Given the description of an element on the screen output the (x, y) to click on. 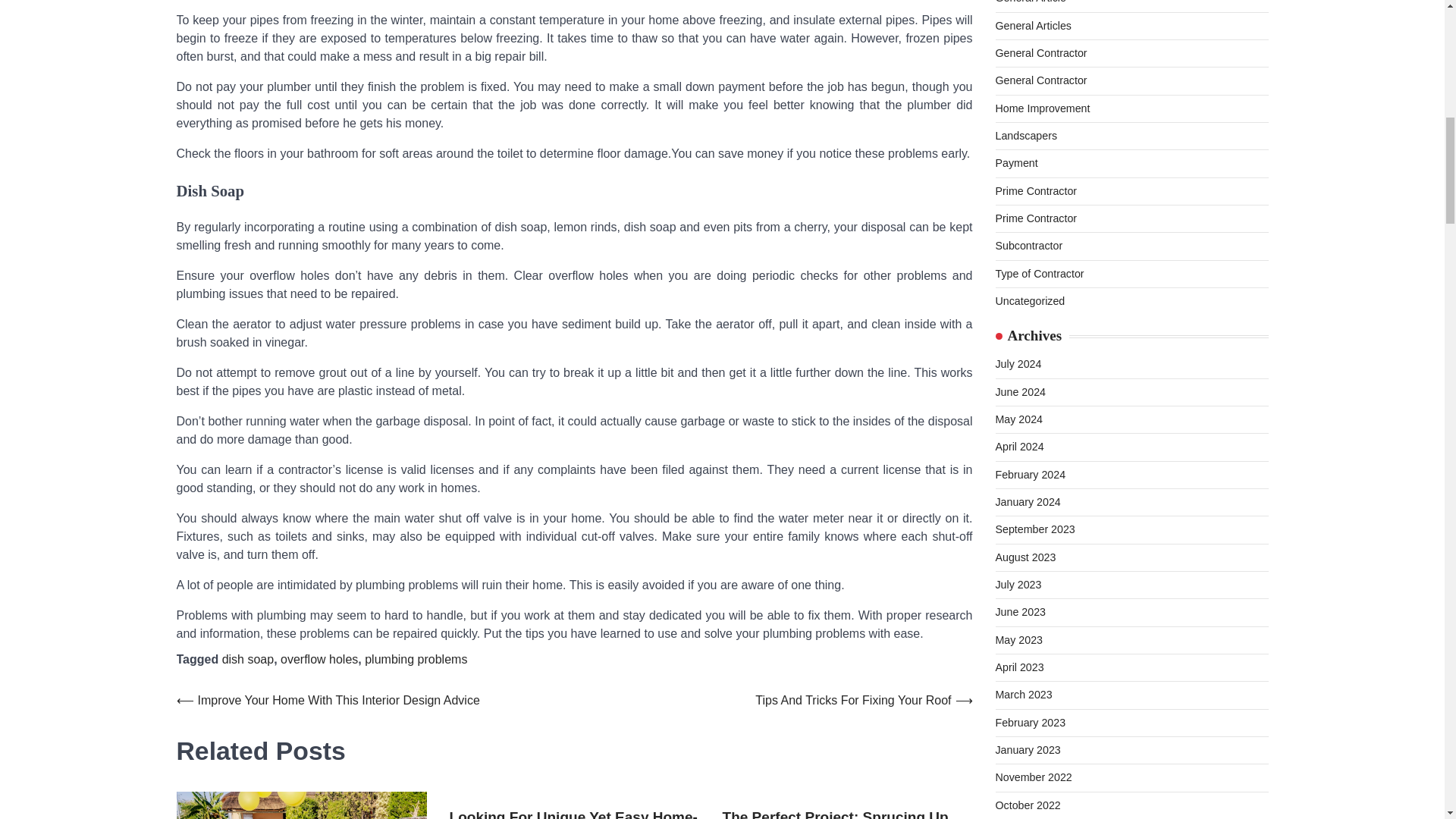
Looking For Unique Yet Easy Home-Improvement Ideas? (573, 812)
plumbing problems (416, 658)
The Perfect Project: Sprucing Up Your Home With These Tips (847, 812)
overflow holes (319, 658)
dish soap (248, 658)
